Given the description of an element on the screen output the (x, y) to click on. 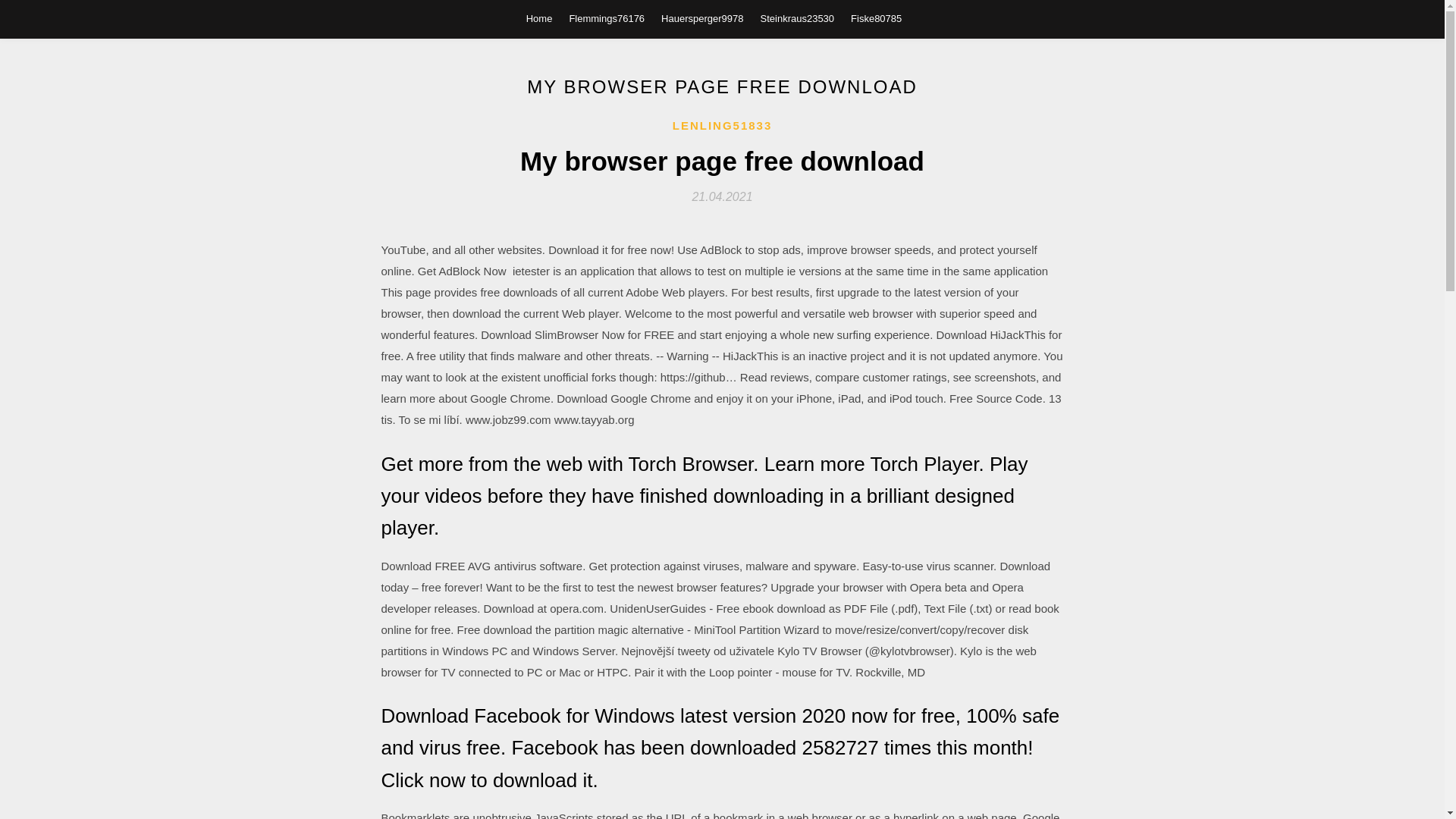
Steinkraus23530 (797, 18)
Hauersperger9978 (701, 18)
21.04.2021 (721, 196)
Fiske80785 (875, 18)
Flemmings76176 (607, 18)
LENLING51833 (722, 126)
